Given the description of an element on the screen output the (x, y) to click on. 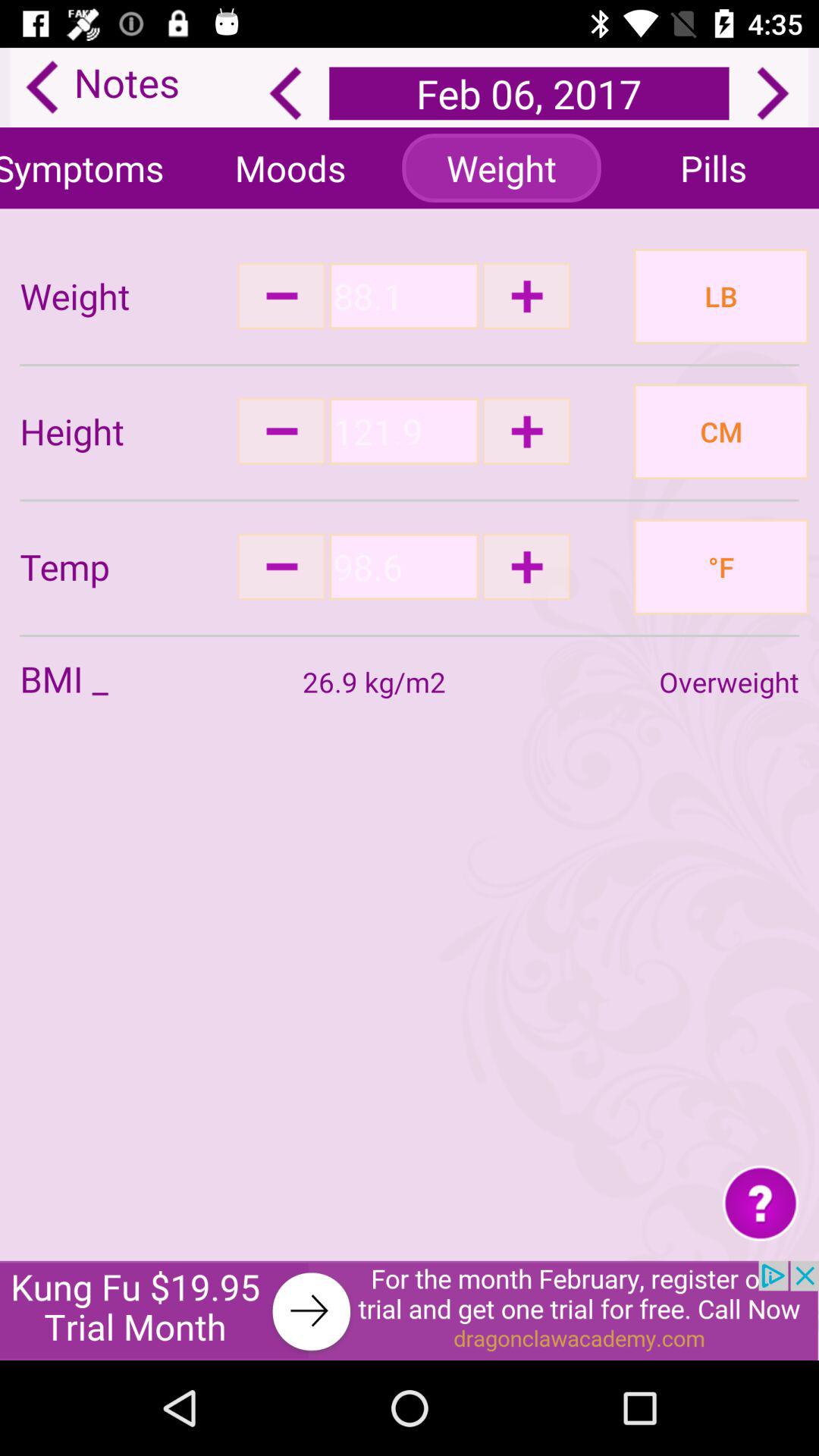
go to back (285, 93)
